Given the description of an element on the screen output the (x, y) to click on. 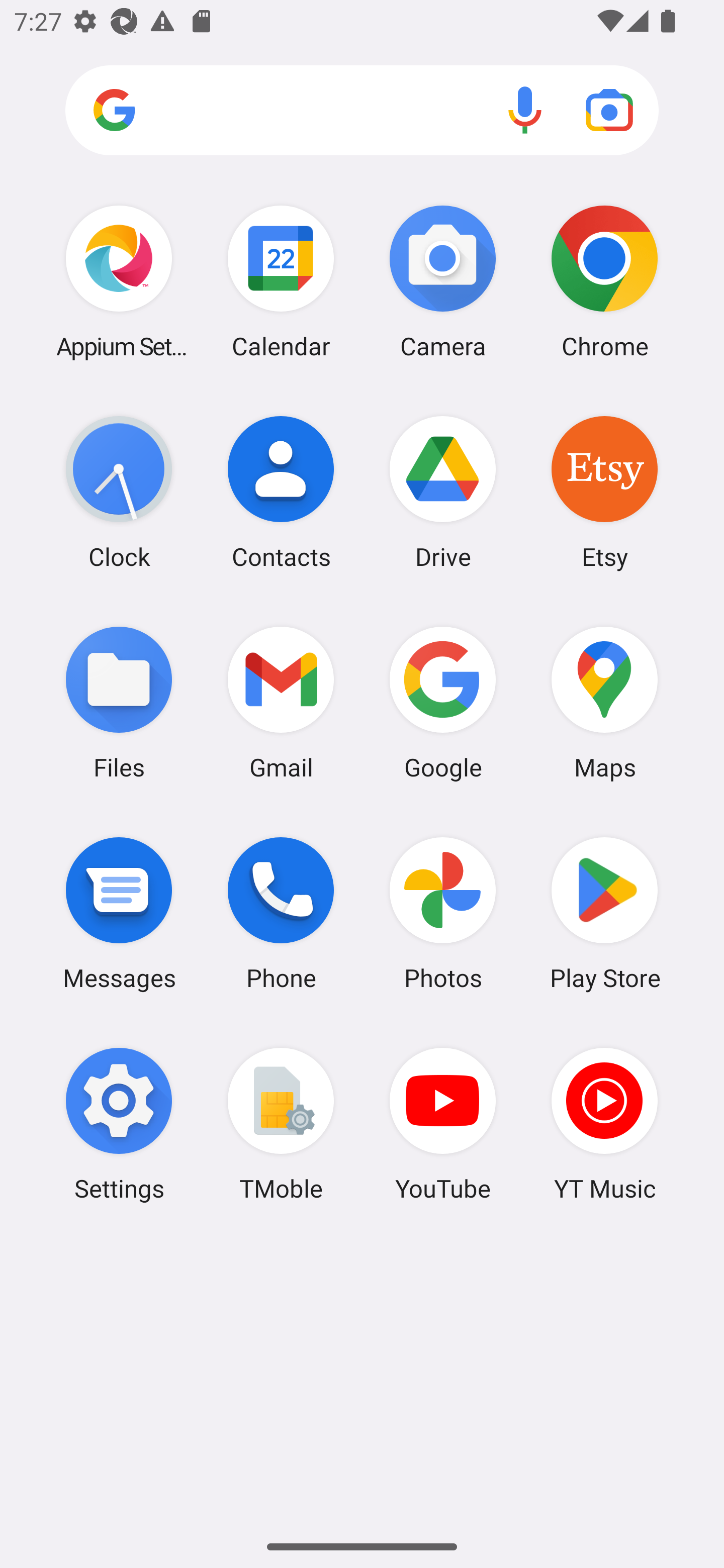
Search apps, web and more (361, 110)
Voice search (524, 109)
Google Lens (608, 109)
Appium Settings (118, 281)
Calendar (280, 281)
Camera (443, 281)
Chrome (604, 281)
Clock (118, 492)
Contacts (280, 492)
Drive (443, 492)
Etsy (604, 492)
Files (118, 702)
Gmail (280, 702)
Google (443, 702)
Maps (604, 702)
Messages (118, 913)
Phone (280, 913)
Photos (443, 913)
Play Store (604, 913)
Settings (118, 1124)
TMoble (280, 1124)
YouTube (443, 1124)
YT Music (604, 1124)
